Given the description of an element on the screen output the (x, y) to click on. 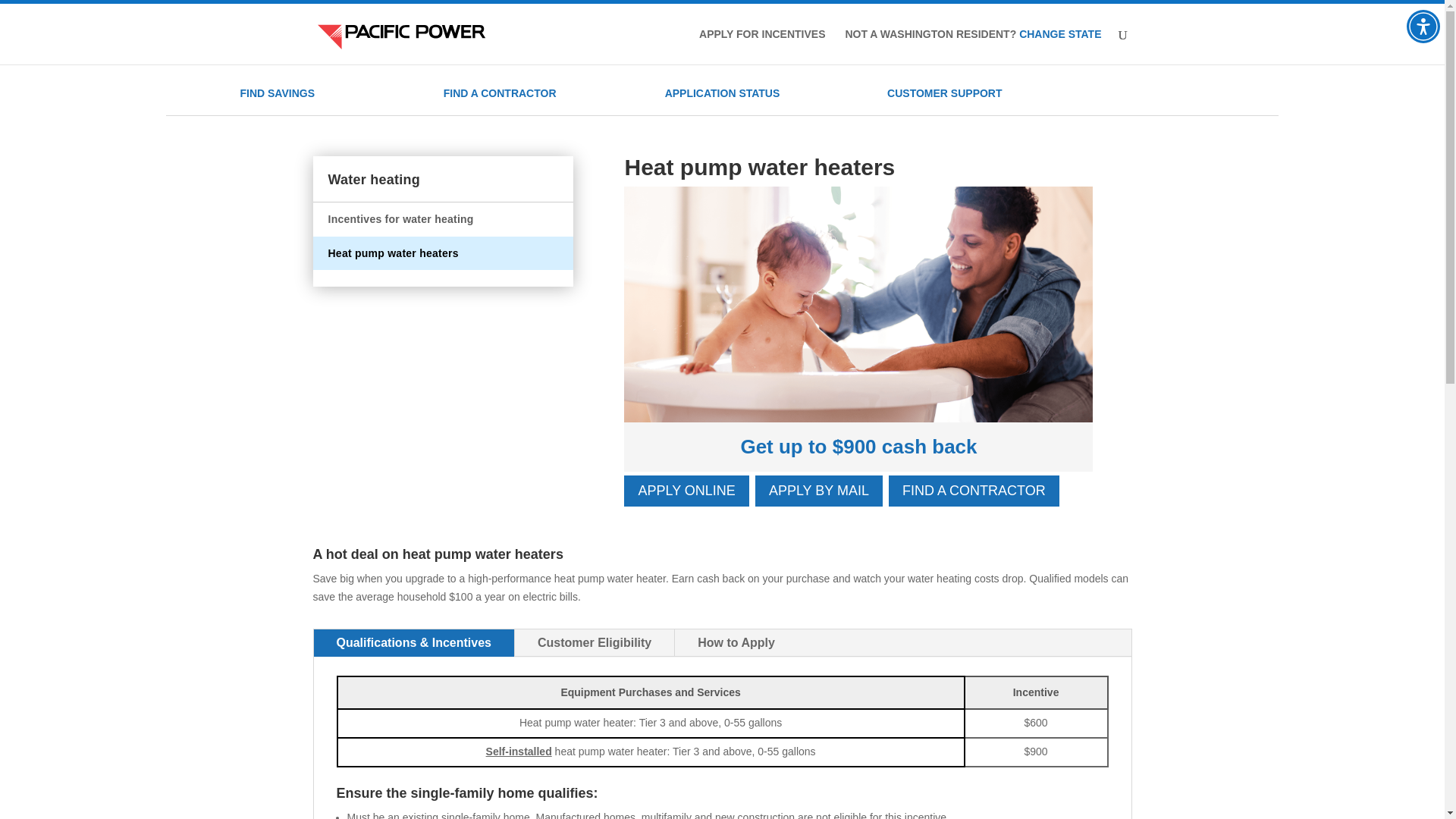
Incentives for water heating (400, 218)
CUSTOMER SUPPORT (943, 92)
Customer Eligibility (594, 642)
APPLY ONLINE (686, 490)
APPLICATION STATUS (722, 92)
FIND A CONTRACTOR (973, 490)
How to Apply (736, 642)
FIND SAVINGS (277, 92)
NOT A WASHINGTON RESIDENT? CHANGE STATE (972, 46)
FIND A CONTRACTOR (500, 92)
